Given the description of an element on the screen output the (x, y) to click on. 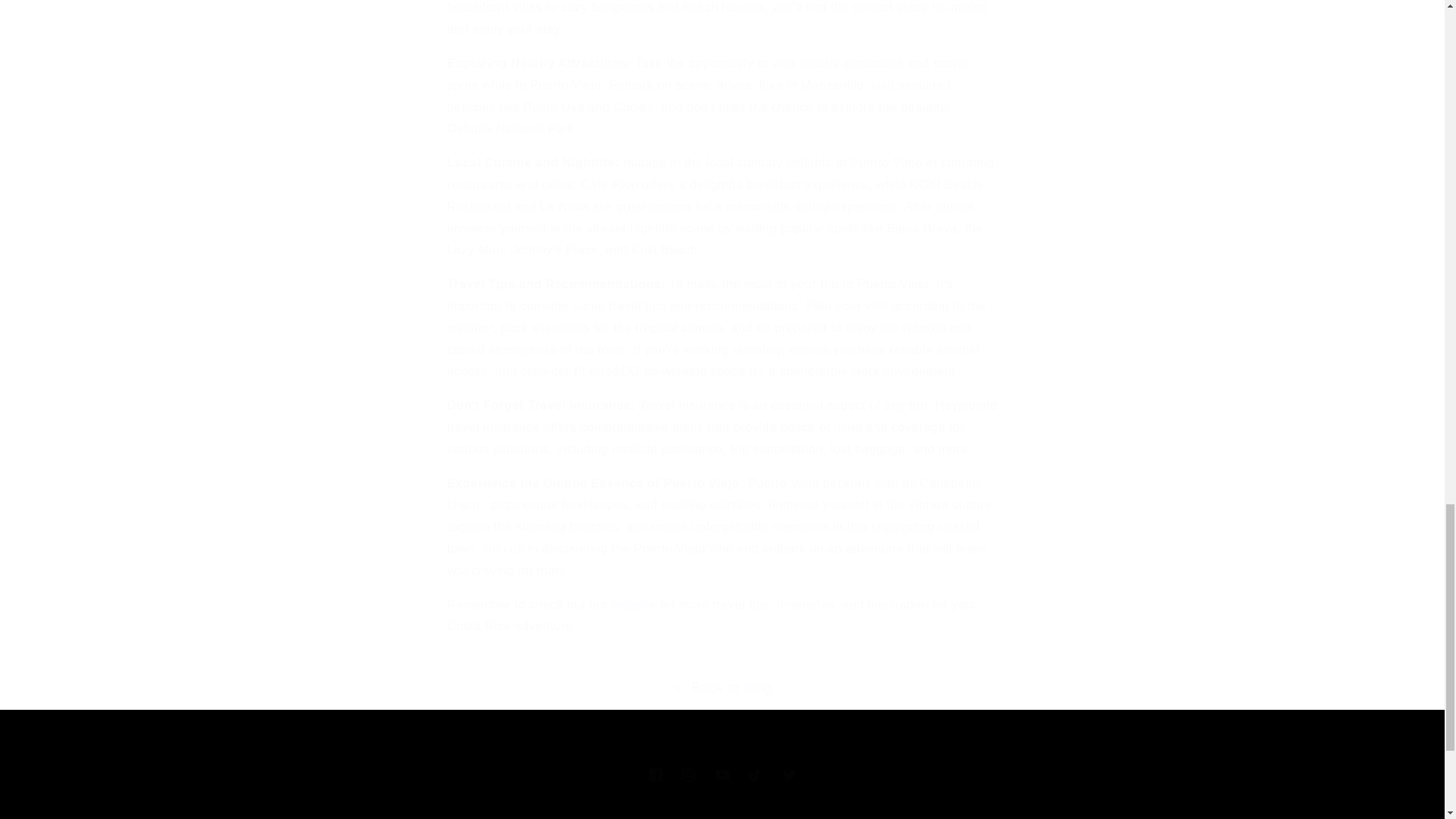
Tripping Roots store (721, 774)
